Given the description of an element on the screen output the (x, y) to click on. 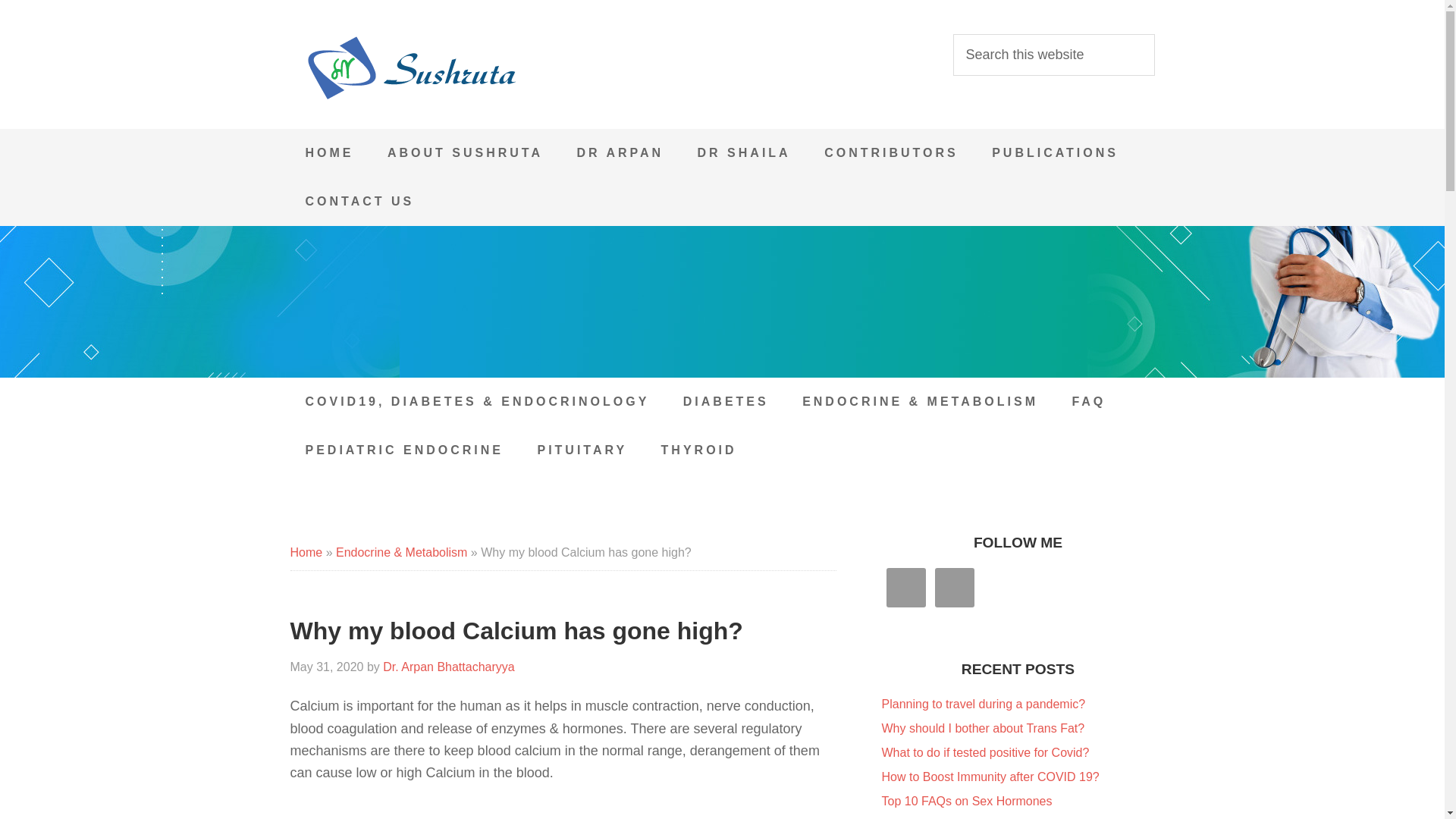
DIABETES (726, 401)
CONTRIBUTORS (891, 152)
Home (305, 552)
How to Boost Immunity after COVID 19? (989, 776)
PEDIATRIC ENDOCRINE (403, 450)
What to do if tested positive for Covid? (984, 752)
Planning to travel during a pandemic? (982, 703)
CONTACT US (359, 201)
THYROID (699, 450)
